Given the description of an element on the screen output the (x, y) to click on. 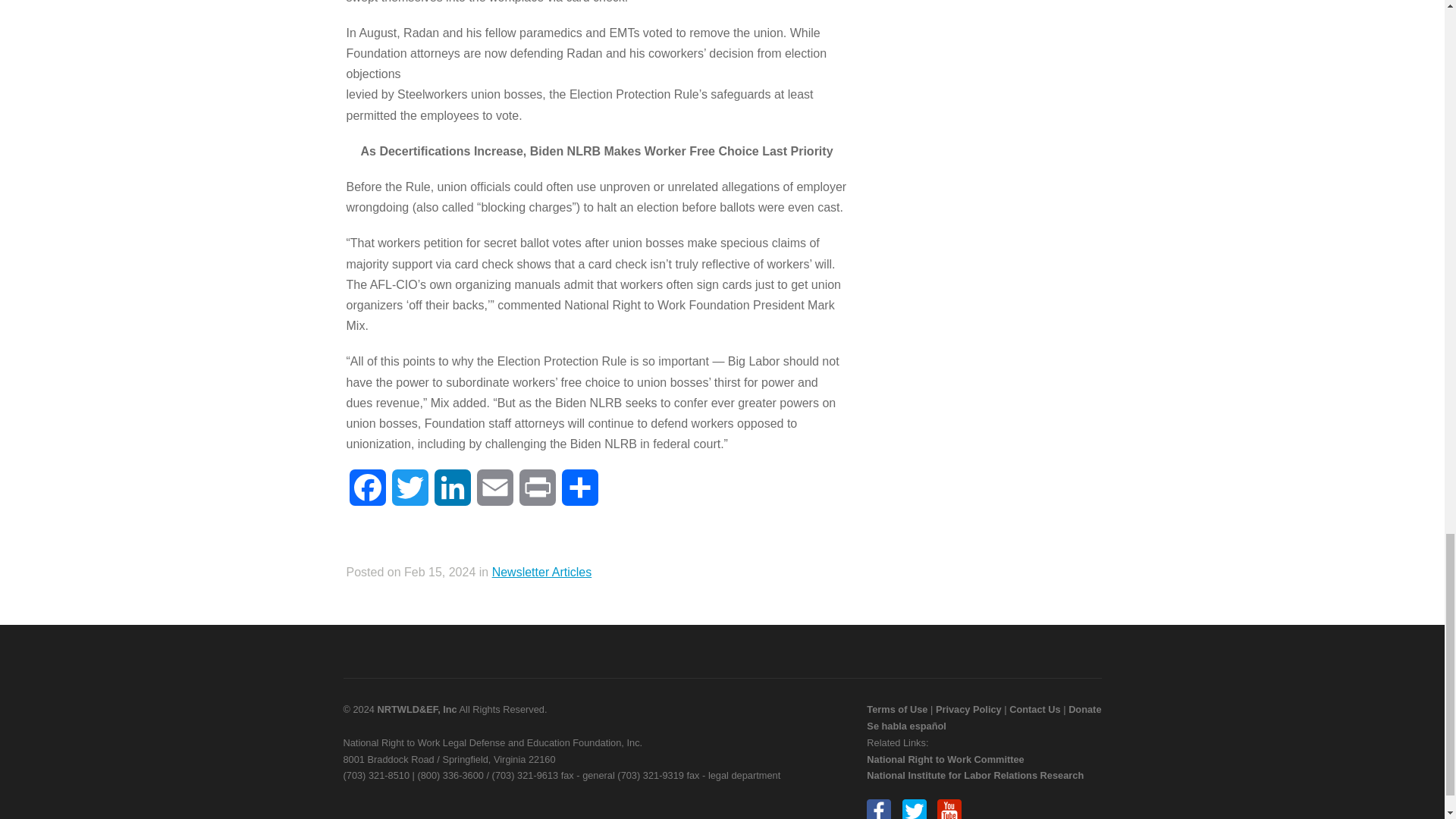
Newsletter Articles (542, 571)
Terms of Use (896, 708)
